Given the description of an element on the screen output the (x, y) to click on. 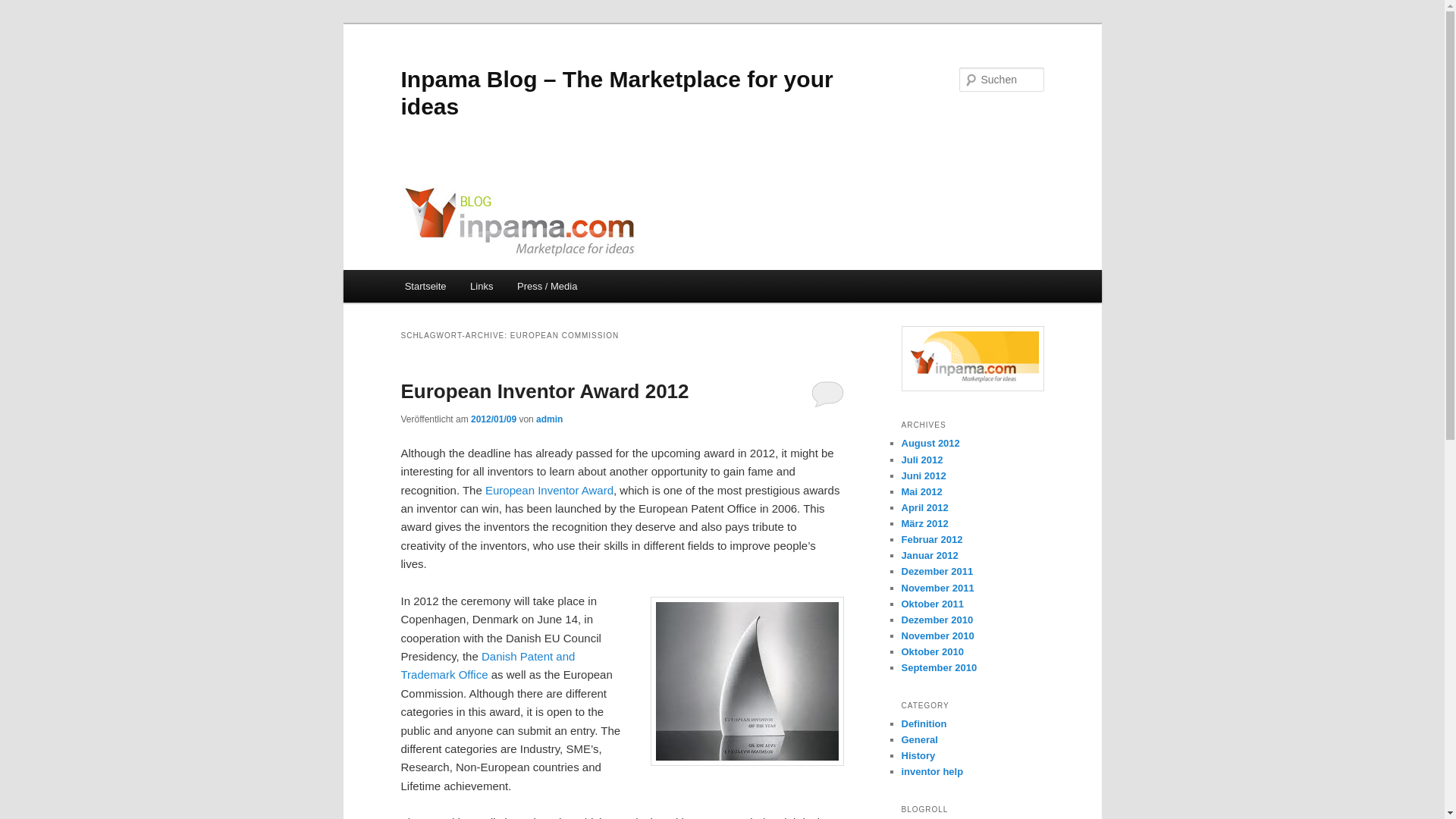
Mai 2012 (921, 491)
inpama.com (972, 358)
November 2011 (937, 587)
Februar 2012 (931, 539)
Danish Patent and Trademark Office (487, 665)
August 2012 (930, 442)
September 2010 (938, 667)
Links (481, 286)
European Inventor Award (548, 490)
Oktober 2010 (931, 651)
April 2012 (924, 507)
Startseite (425, 286)
Juni 2012 (922, 475)
admin (548, 419)
